Given the description of an element on the screen output the (x, y) to click on. 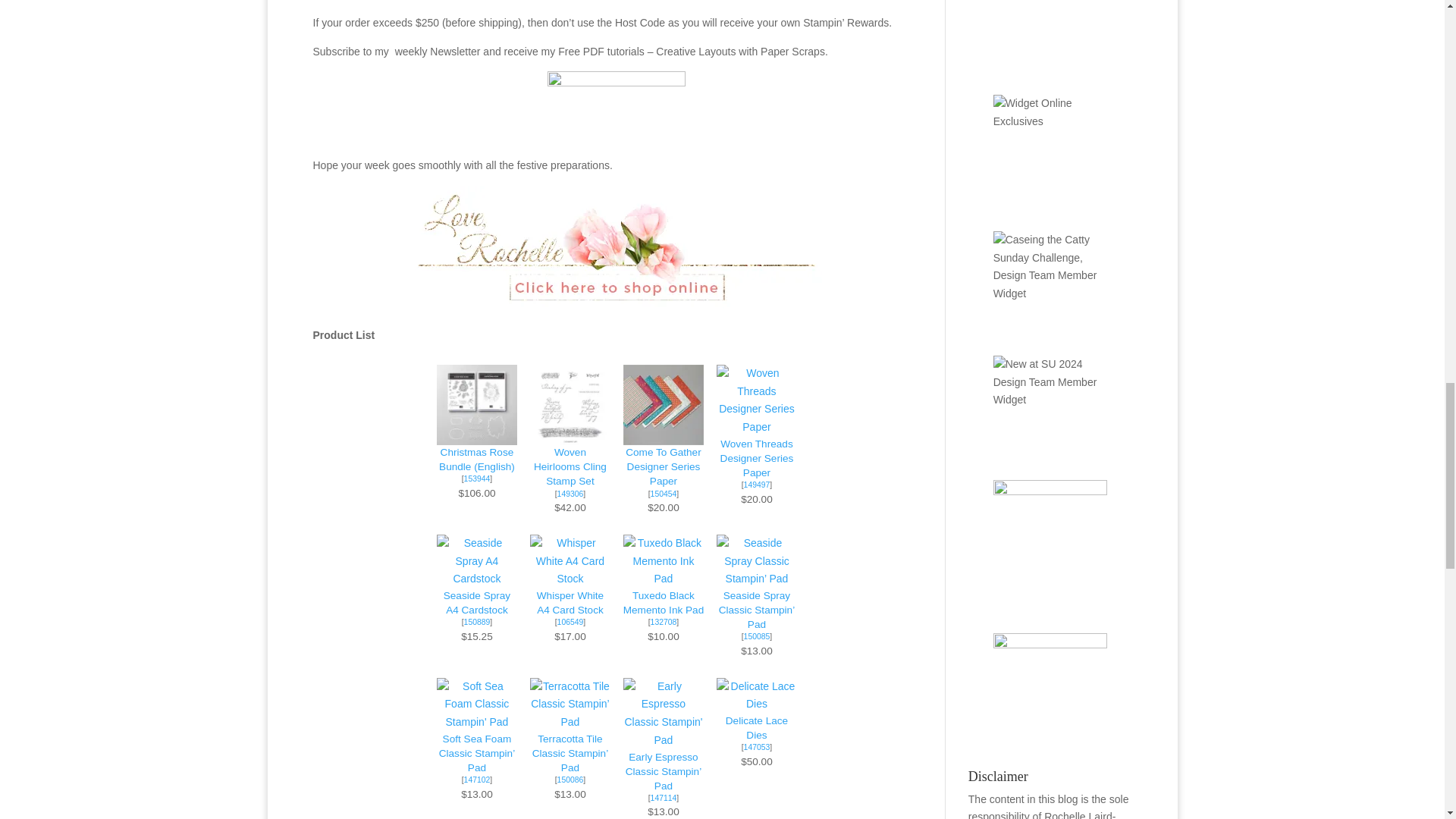
153944 (477, 479)
Woven Heirlooms Cling Stamp Set (570, 466)
149306 (570, 493)
Come To Gather Designer Series Paper (663, 466)
Seaside Spray A4 Cardstock (477, 602)
Woven Heirlooms Cling Stamp Set (570, 466)
Woven Threads Designer Series Paper (756, 458)
150454 (663, 493)
Woven Heirlooms Cling Stamp Set (570, 435)
Woven Heirlooms Cling Stamp Set (570, 493)
